Given the description of an element on the screen output the (x, y) to click on. 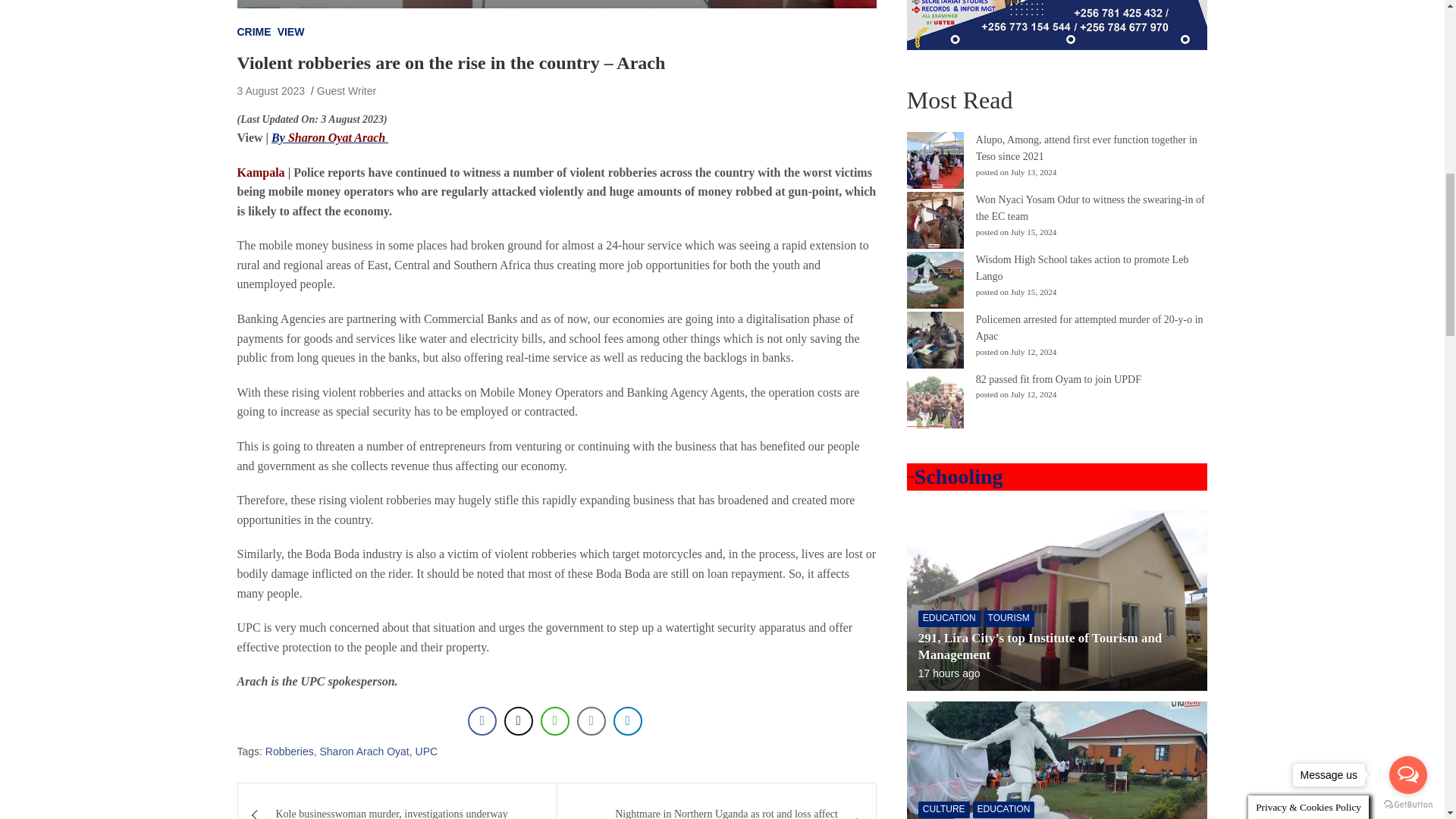
By Sharon Oyat Arach  (329, 137)
Guest Writer (346, 91)
CRIME (252, 31)
3 August 2023 (269, 91)
Violent robberies are on the rise in the country - Arach 1 (555, 4)
VIEW (291, 31)
